Given the description of an element on the screen output the (x, y) to click on. 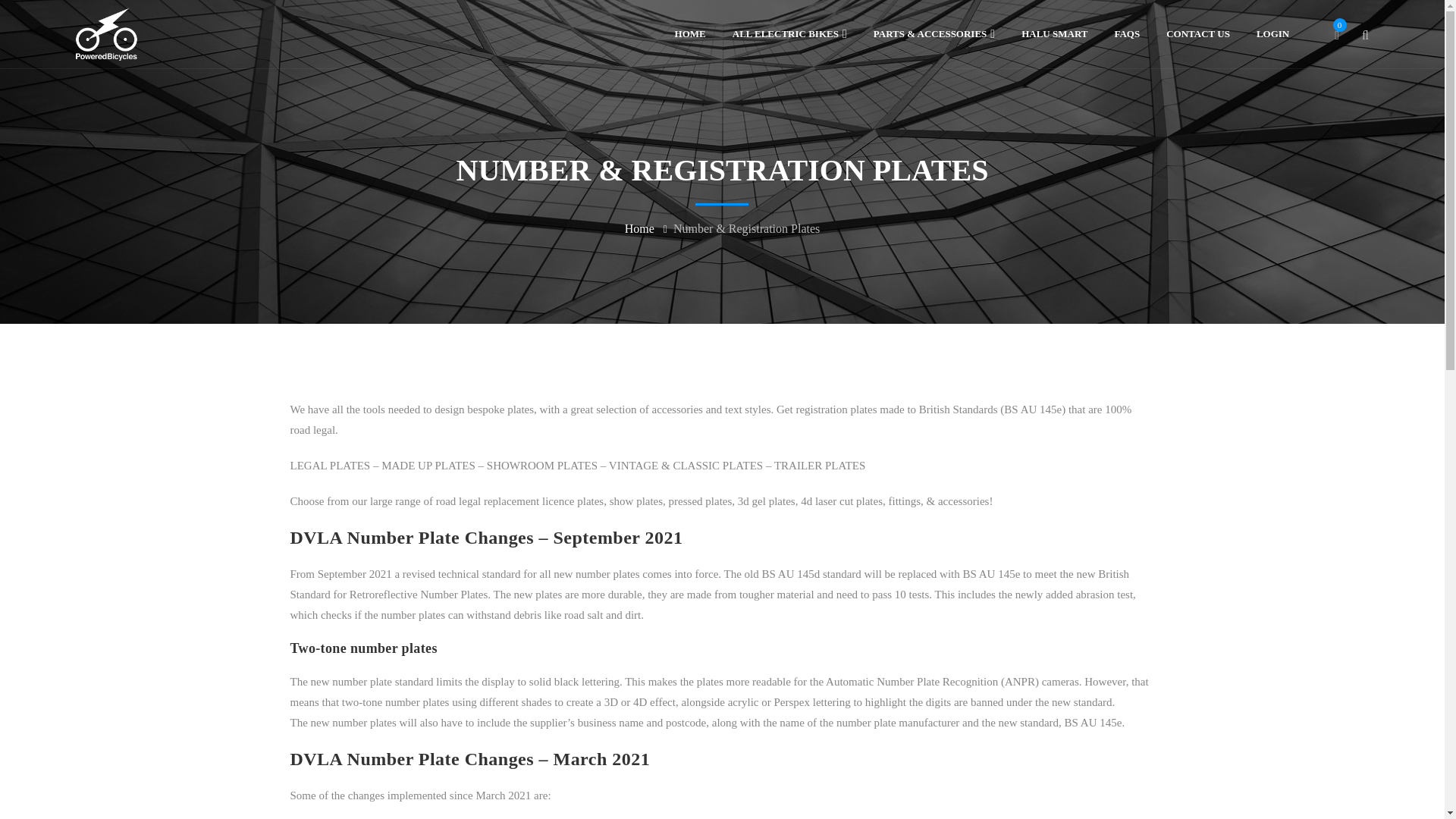
ALL ELECTRIC BIKES (789, 33)
HALU SMART (1054, 33)
CONTACT US (1198, 33)
